Given the description of an element on the screen output the (x, y) to click on. 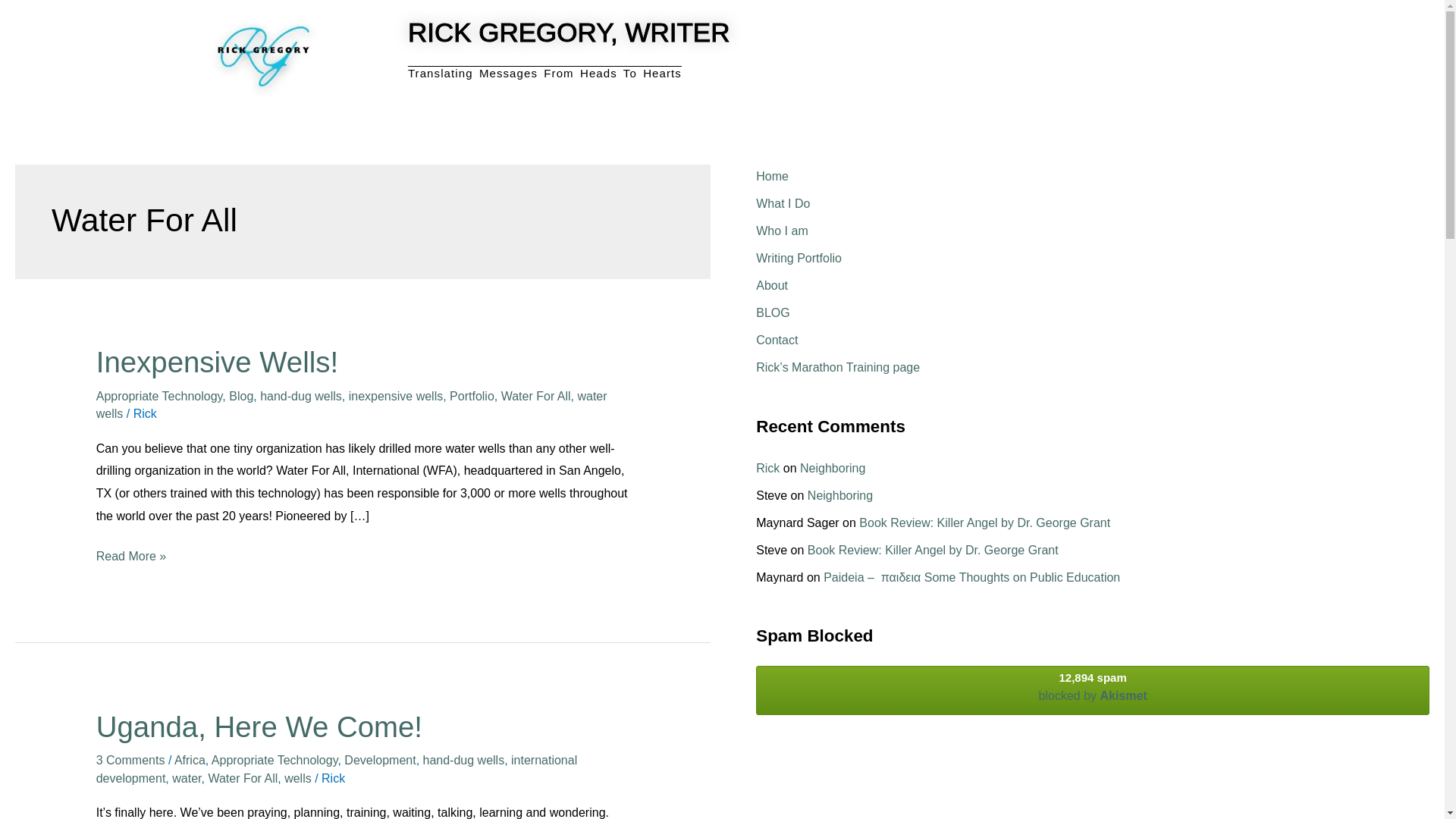
3 Comments (130, 759)
hand-dug wells (464, 759)
Appropriate Technology (159, 395)
Water For All (243, 778)
RICK GREGORY, WRITER (568, 31)
water (185, 778)
hand-dug wells (301, 395)
View all posts by Rick (333, 778)
water wells (351, 404)
View all posts by Rick (145, 413)
Blog (240, 395)
wells (297, 778)
Rick (333, 778)
Africa (189, 759)
Rick (145, 413)
